Given the description of an element on the screen output the (x, y) to click on. 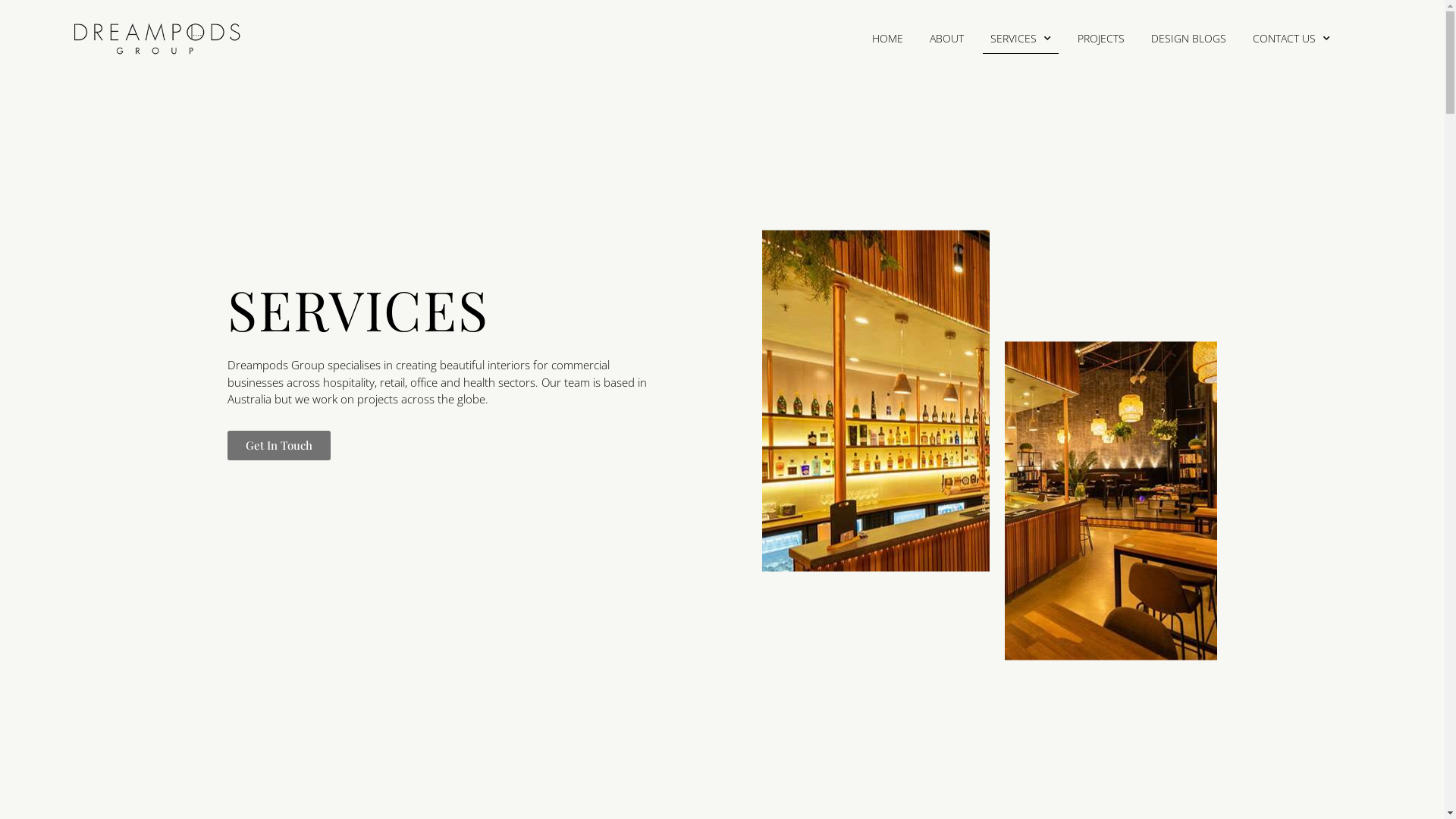
ABOUT Element type: text (946, 38)
Get In Touch Element type: text (278, 445)
PROJECTS Element type: text (1101, 38)
CONTACT US Element type: text (1291, 38)
SERVICES Element type: text (1020, 38)
DESIGN BLOGS Element type: text (1188, 38)
HOME Element type: text (887, 38)
